Given the description of an element on the screen output the (x, y) to click on. 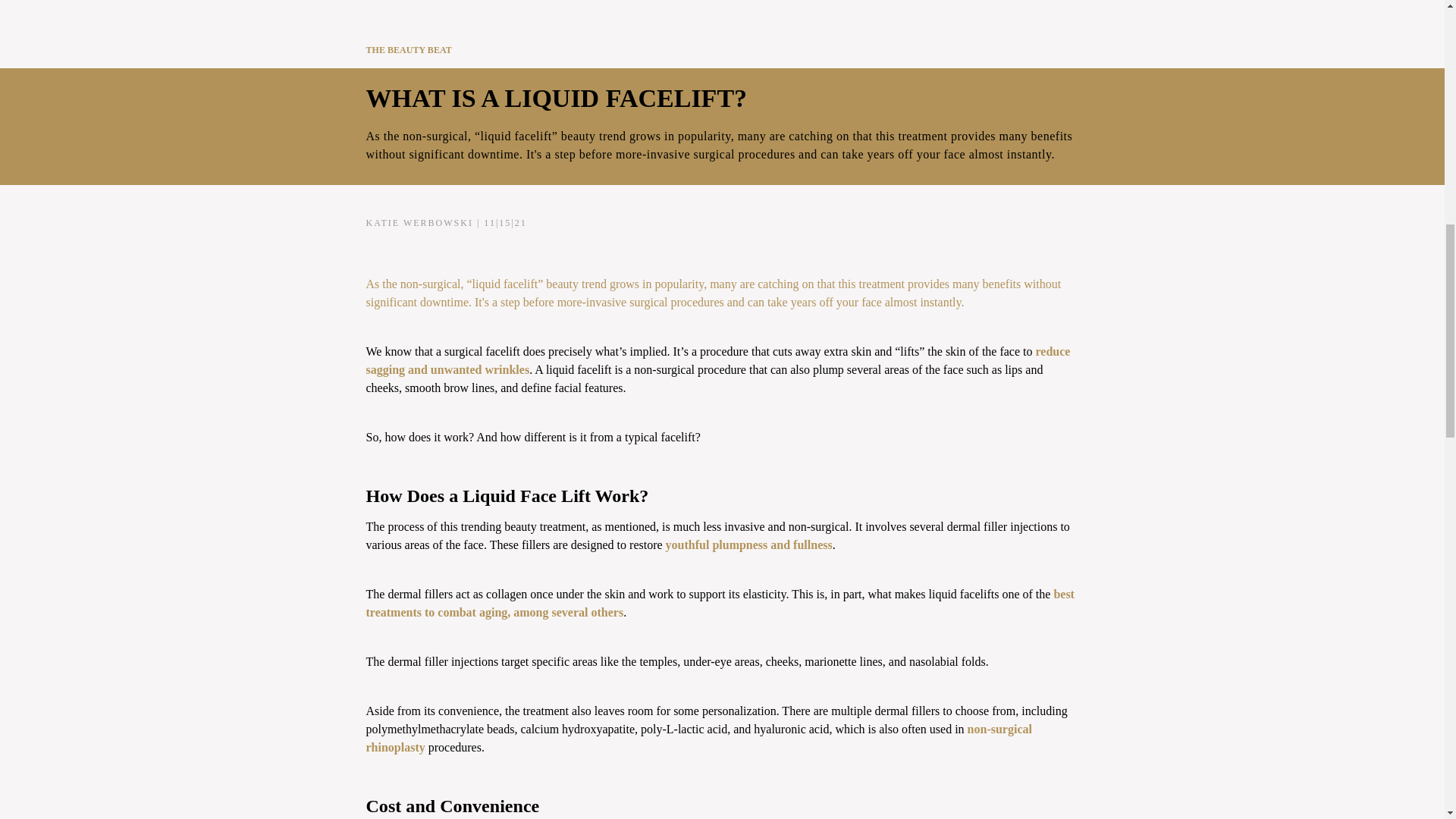
reduce sagging and unwanted wrinkles (717, 359)
youthful plumpness and fullness (748, 544)
best treatments to combat aging, among several others (719, 603)
non-surgical rhinoplasty (697, 737)
